Given the description of an element on the screen output the (x, y) to click on. 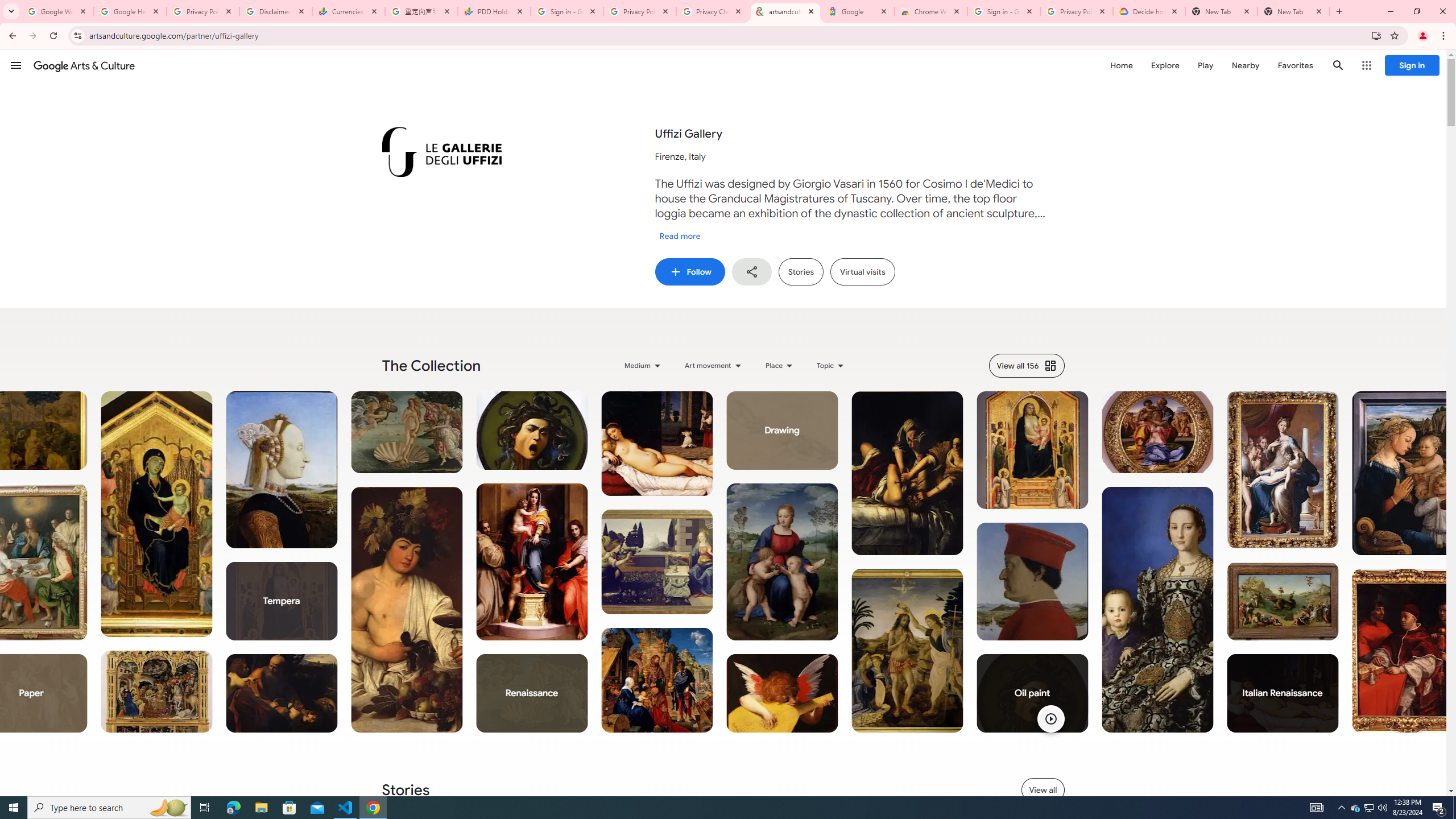
Sign in - Google Accounts (566, 11)
Currencies - Google Finance (348, 11)
PDD Holdings Inc - ADR (PDD) Price & News - Google Finance (493, 11)
Uffizi Gallery (441, 151)
New Tab (1293, 11)
Place (779, 365)
